Given the description of an element on the screen output the (x, y) to click on. 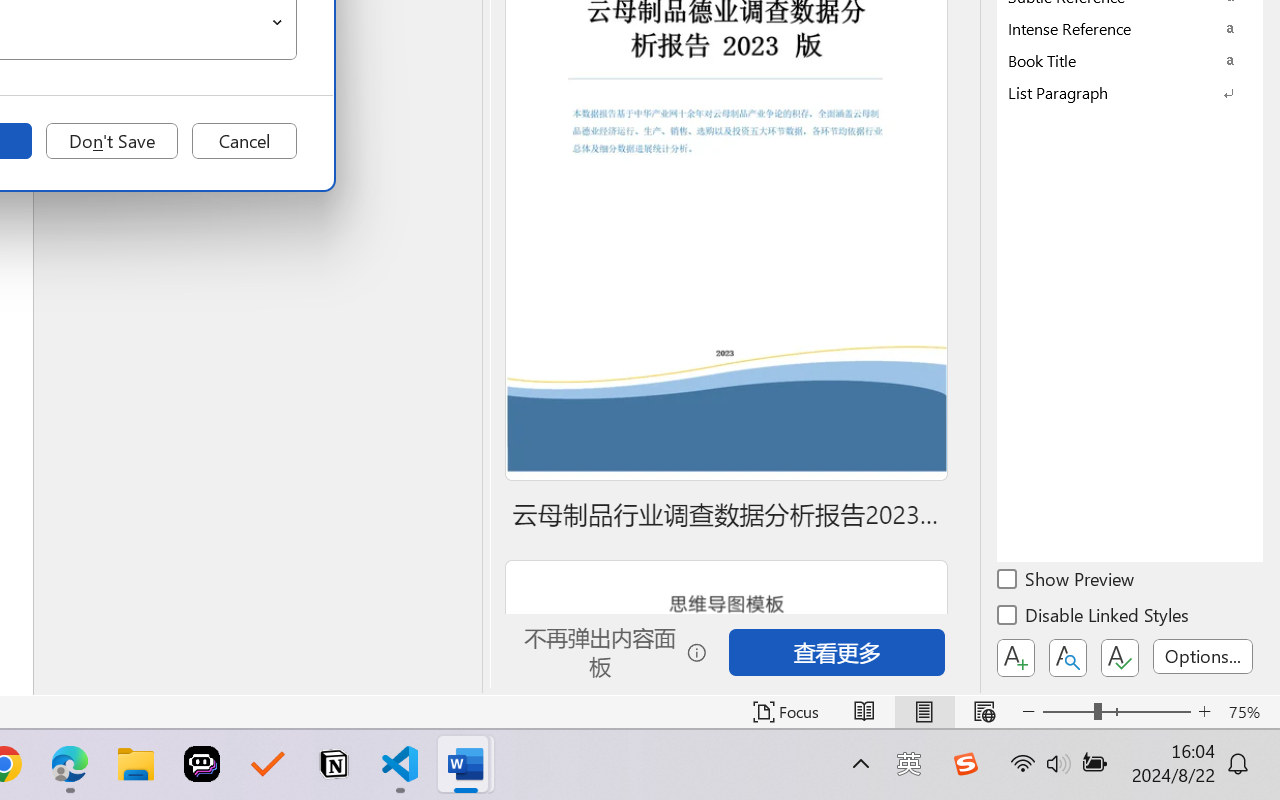
Class: Image (965, 764)
Disable Linked Styles (1094, 618)
